Given the description of an element on the screen output the (x, y) to click on. 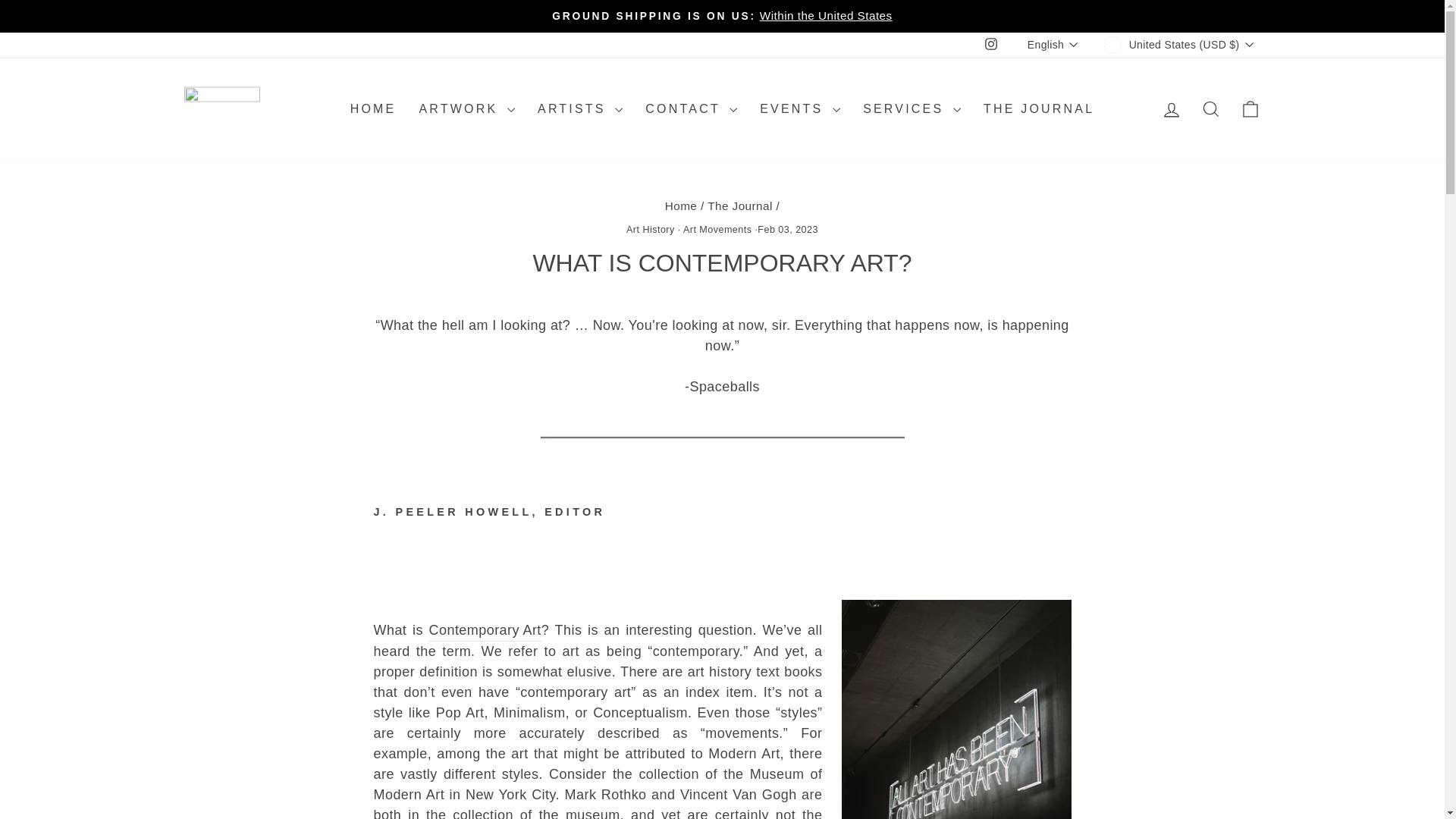
Contemporary Art (485, 630)
ICON-BAG-MINIMAL (1249, 108)
ICON-SEARCH (1210, 108)
ACCOUNT (1170, 109)
GROUND SHIPPING IS ON US:Within the United States (722, 16)
Back to the frontpage (681, 205)
instagram (991, 43)
